Given the description of an element on the screen output the (x, y) to click on. 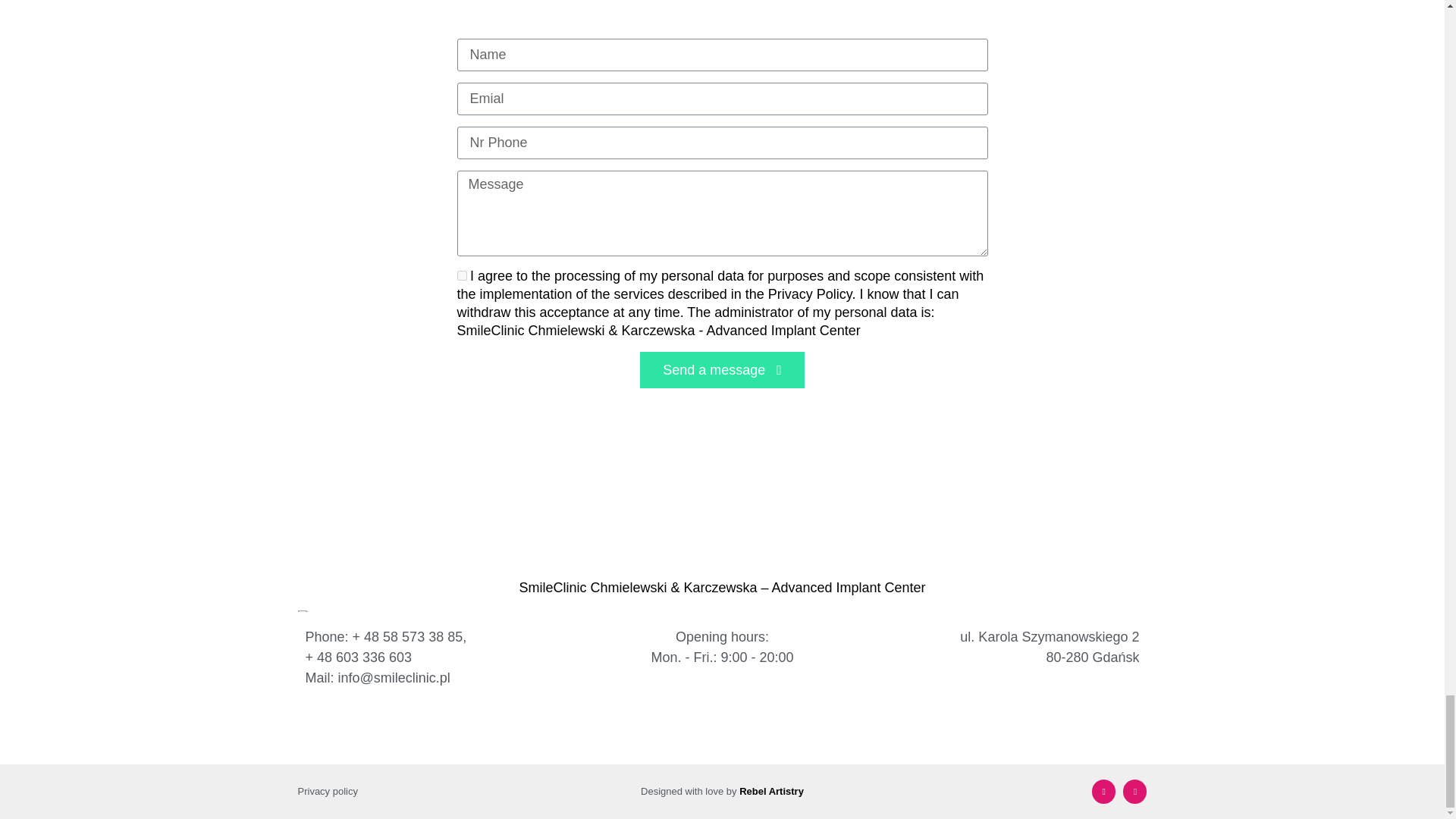
on (461, 275)
